Given the description of an element on the screen output the (x, y) to click on. 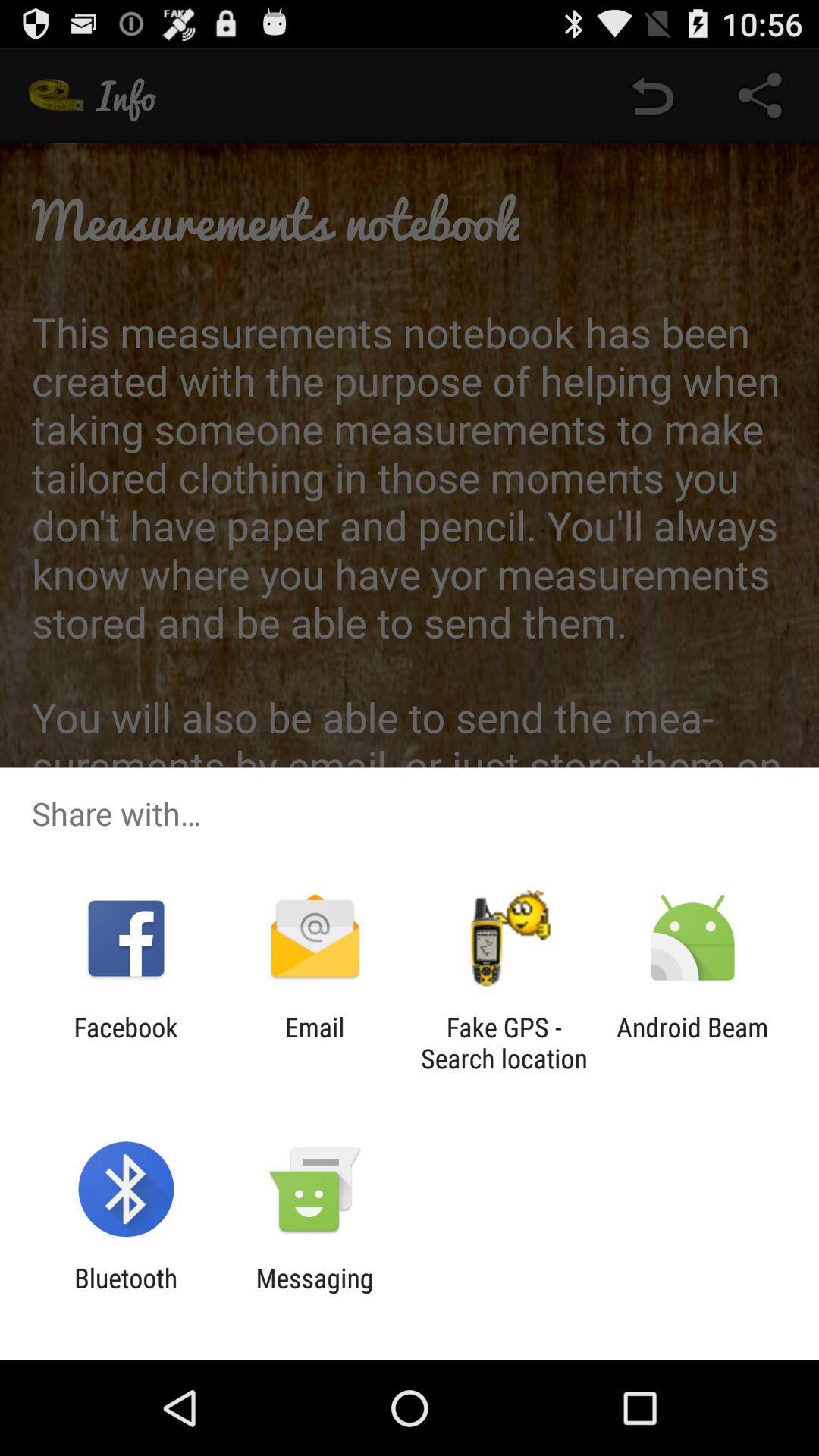
press messaging app (314, 1293)
